Given the description of an element on the screen output the (x, y) to click on. 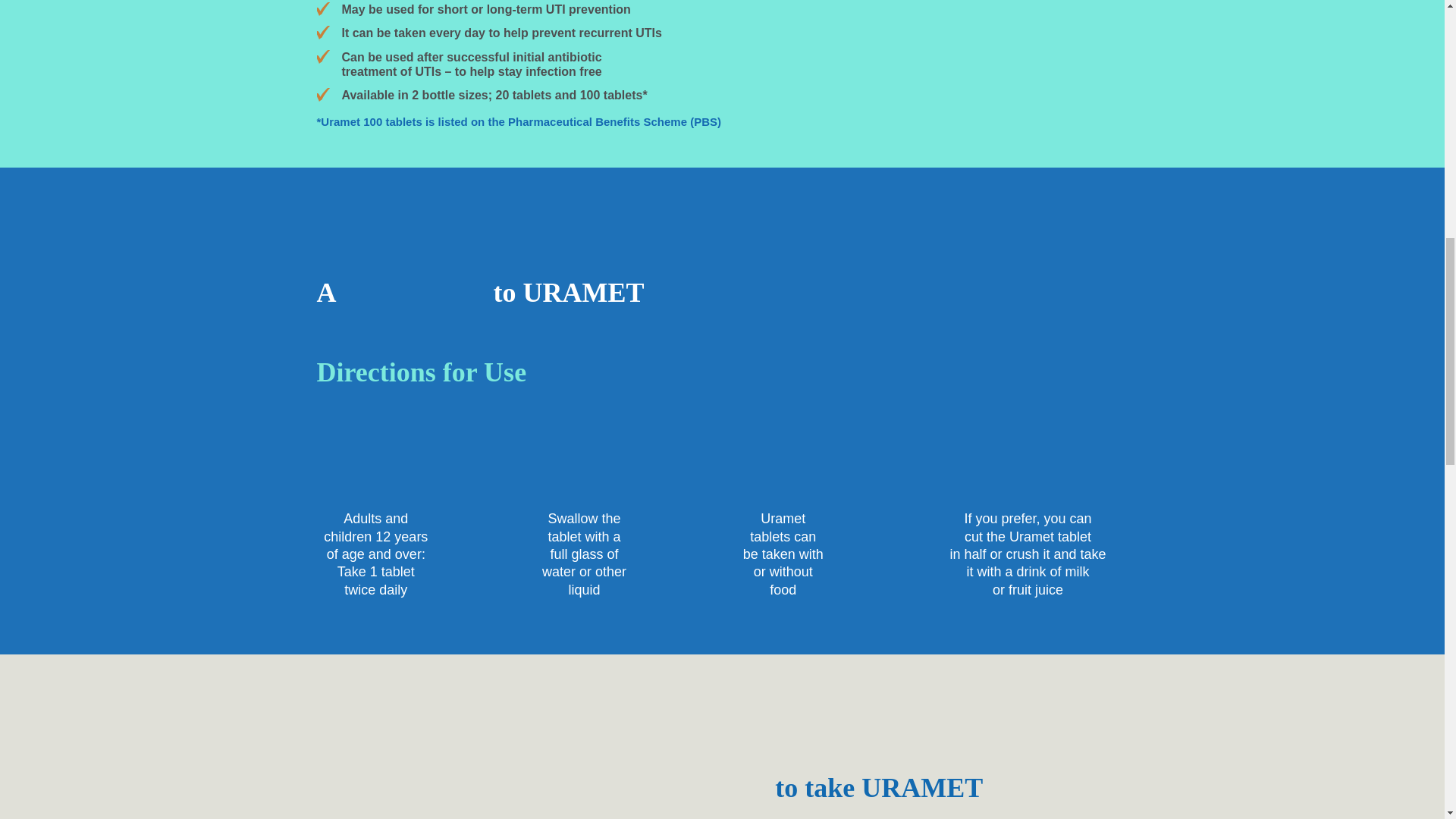
icon spoon knife (783, 464)
icon spoon (1026, 464)
icon direction (364, 464)
icon glass (583, 464)
